Given the description of an element on the screen output the (x, y) to click on. 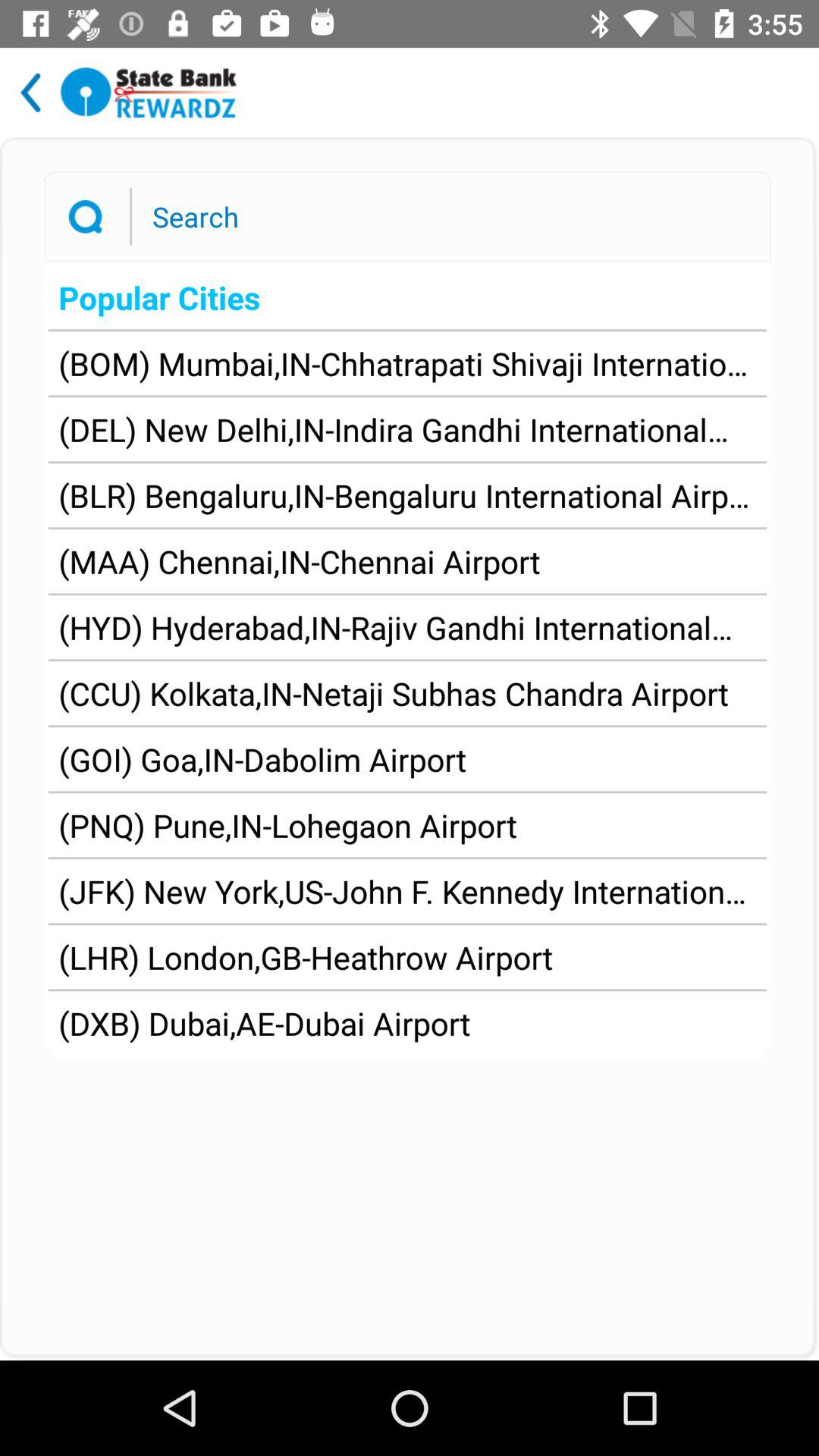
select icon above del new delhi icon (407, 363)
